Given the description of an element on the screen output the (x, y) to click on. 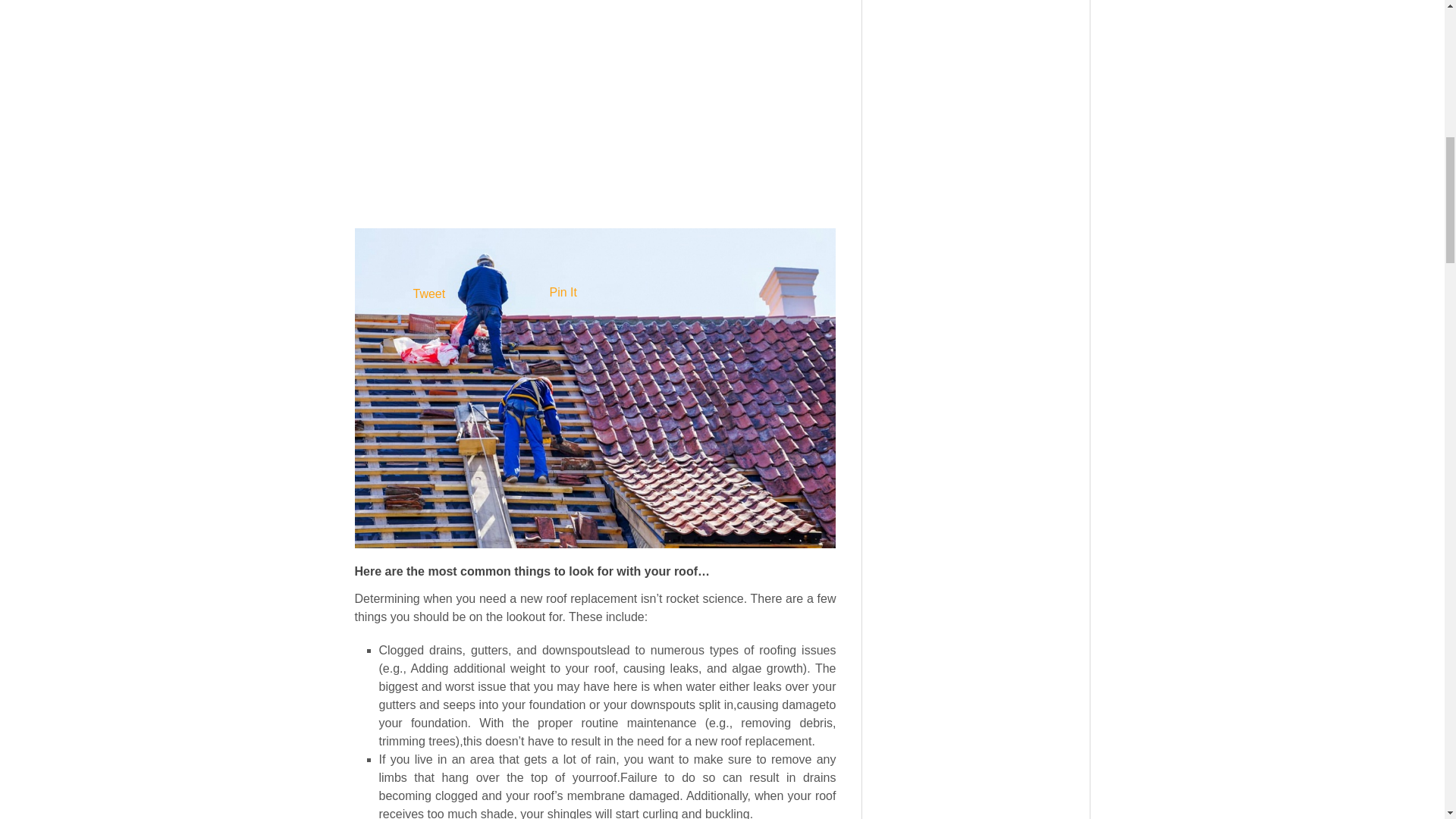
Advertisement (595, 147)
